Given the description of an element on the screen output the (x, y) to click on. 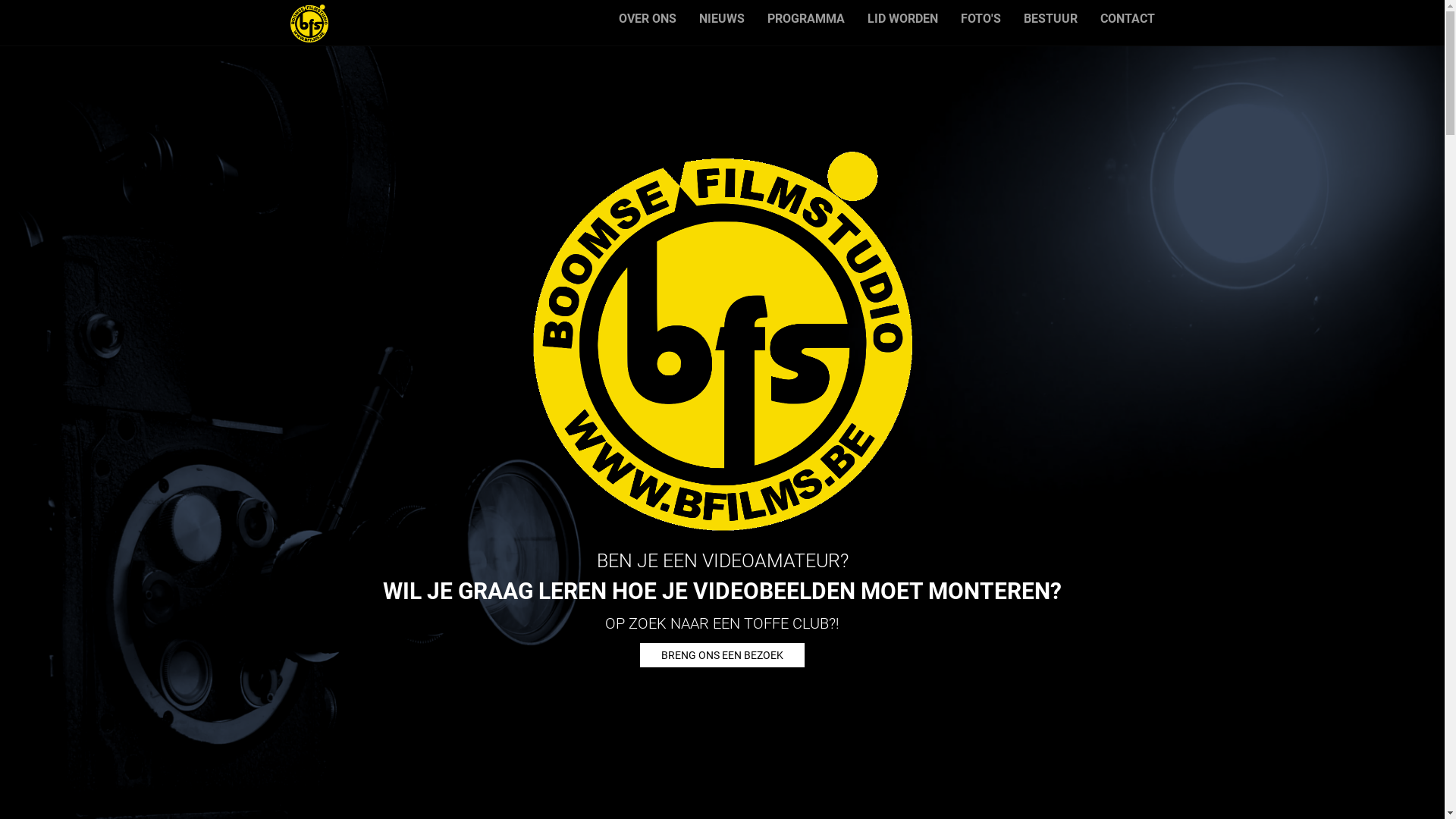
OVER ONS Element type: text (646, 18)
PROGRAMMA Element type: text (805, 18)
LID WORDEN Element type: text (901, 18)
CONTACT Element type: text (1127, 18)
BESTUUR Element type: text (1049, 18)
FOTO'S Element type: text (980, 18)
NIEUWS Element type: text (721, 18)
BRENG ONS EEN BEZOEK Element type: text (722, 655)
